Given the description of an element on the screen output the (x, y) to click on. 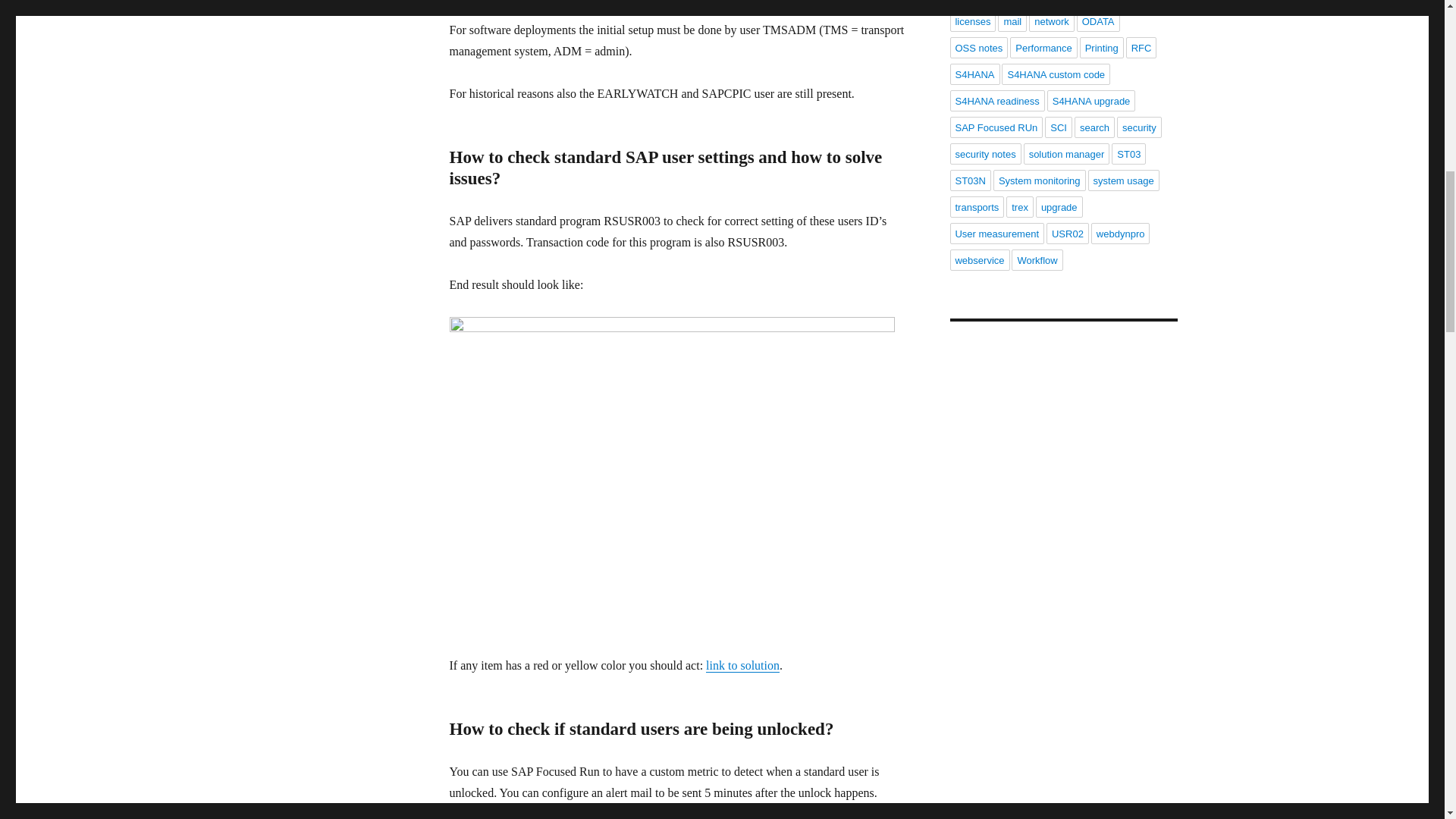
link to solution (742, 665)
blog (633, 813)
